Given the description of an element on the screen output the (x, y) to click on. 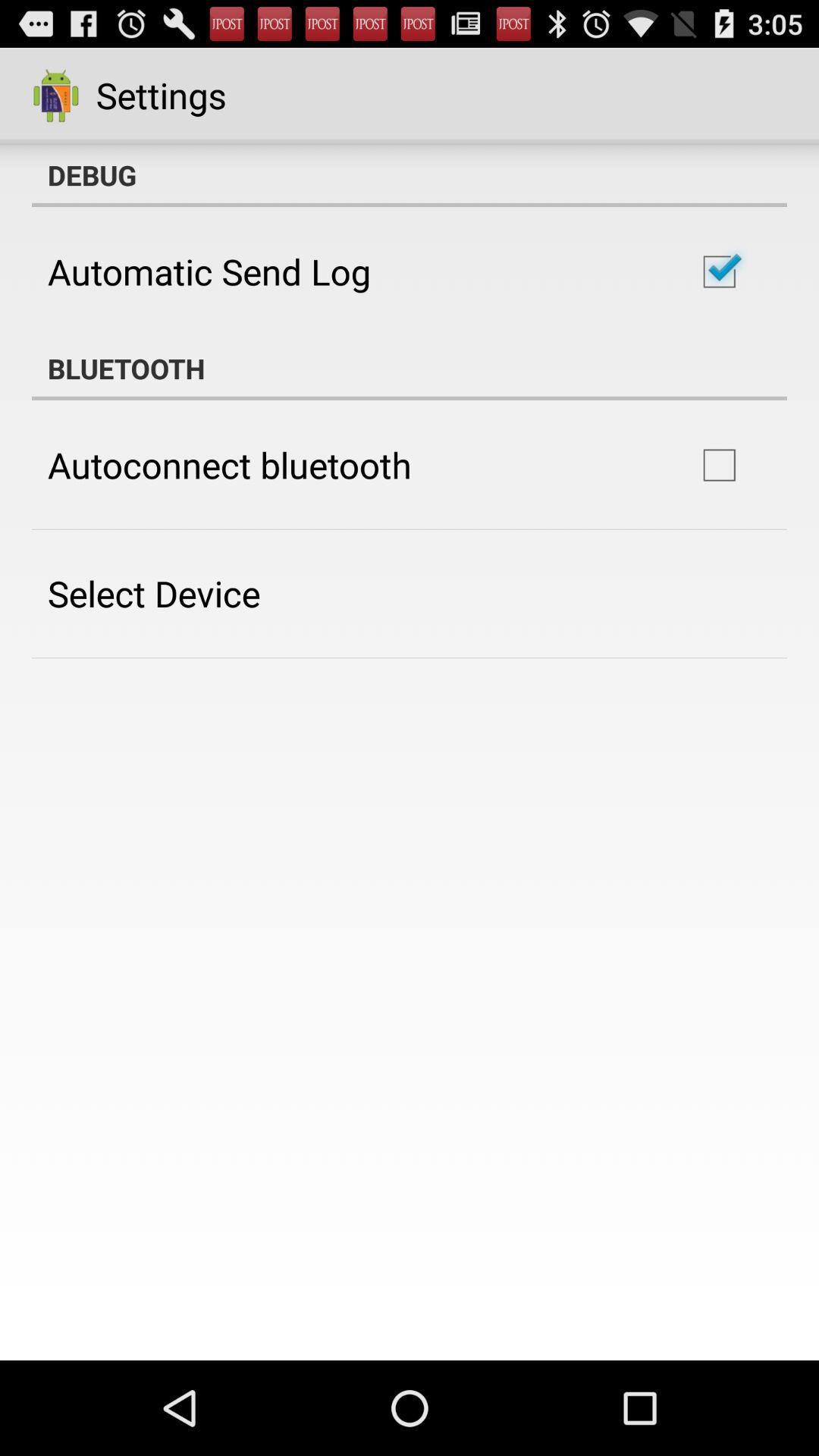
jump until the automatic send log (208, 271)
